Given the description of an element on the screen output the (x, y) to click on. 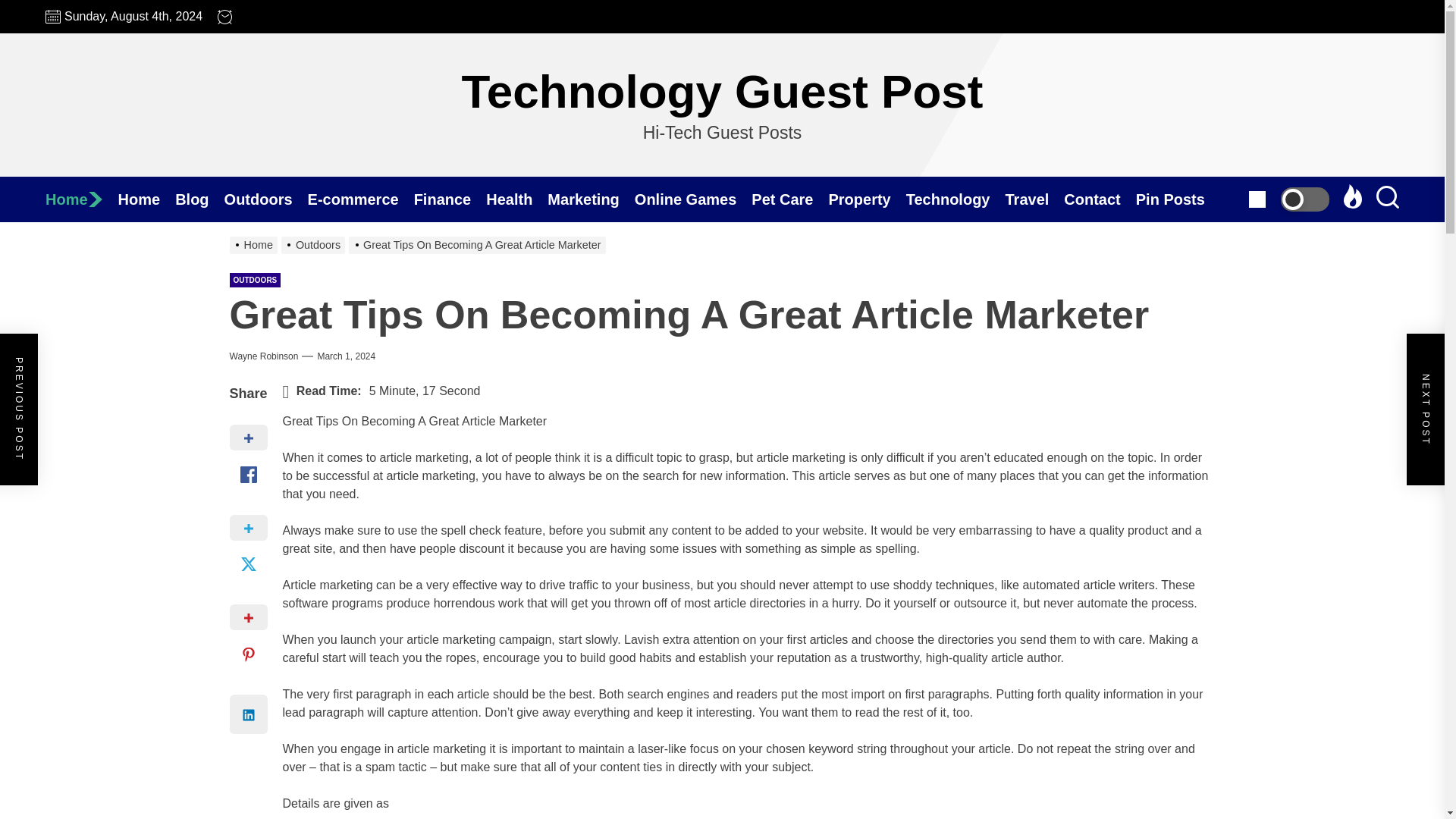
Outdoors (265, 198)
Contact (1099, 198)
Marketing (590, 198)
Travel (1034, 198)
E-commerce (360, 198)
Pin Posts (1177, 198)
Online Games (693, 198)
Home (146, 198)
Pet Care (789, 198)
Technology (955, 198)
Health (516, 198)
Blog (199, 198)
Property (866, 198)
Home (81, 198)
Finance (449, 198)
